Given the description of an element on the screen output the (x, y) to click on. 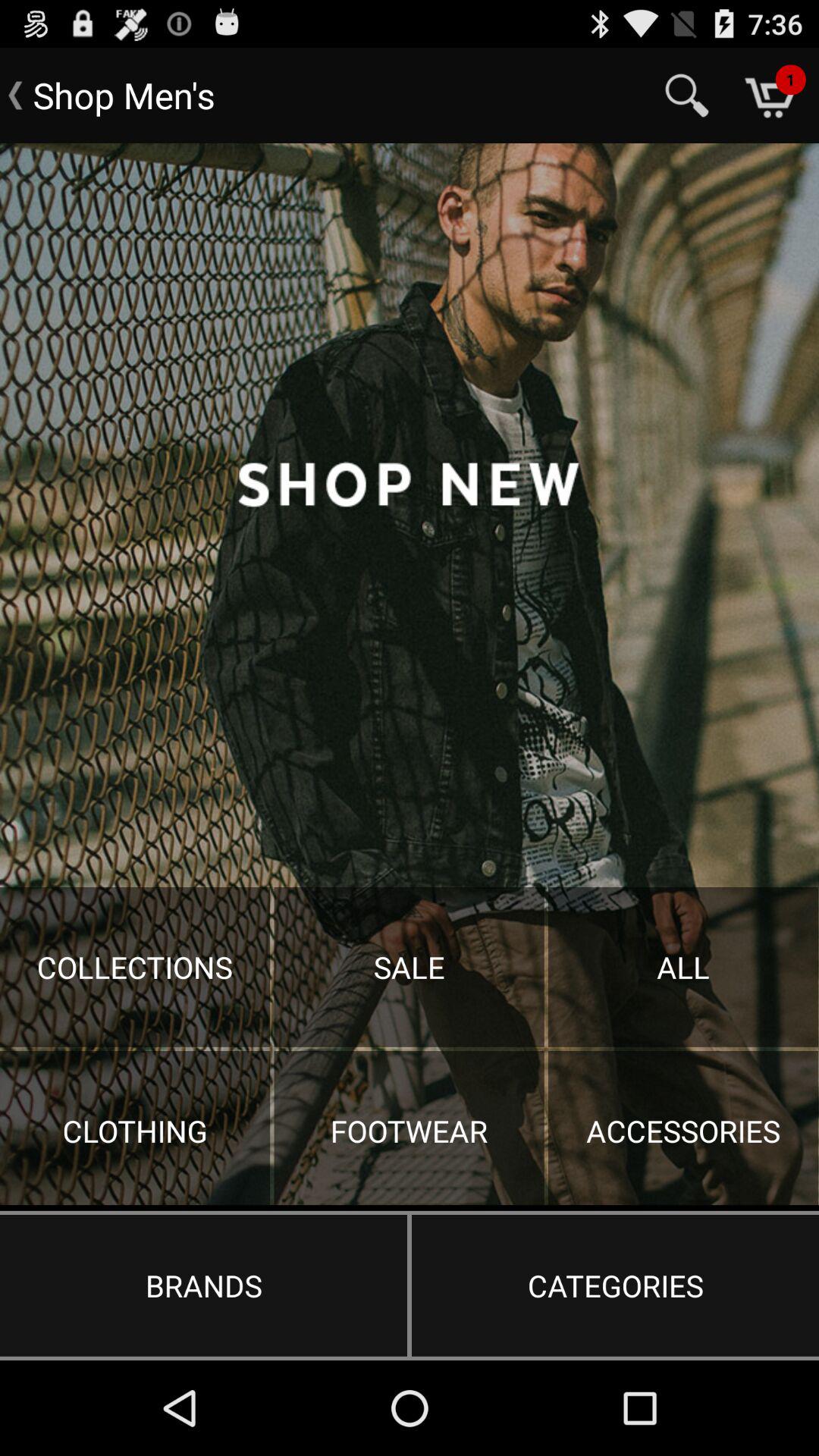
swipe until brands icon (203, 1285)
